Given the description of an element on the screen output the (x, y) to click on. 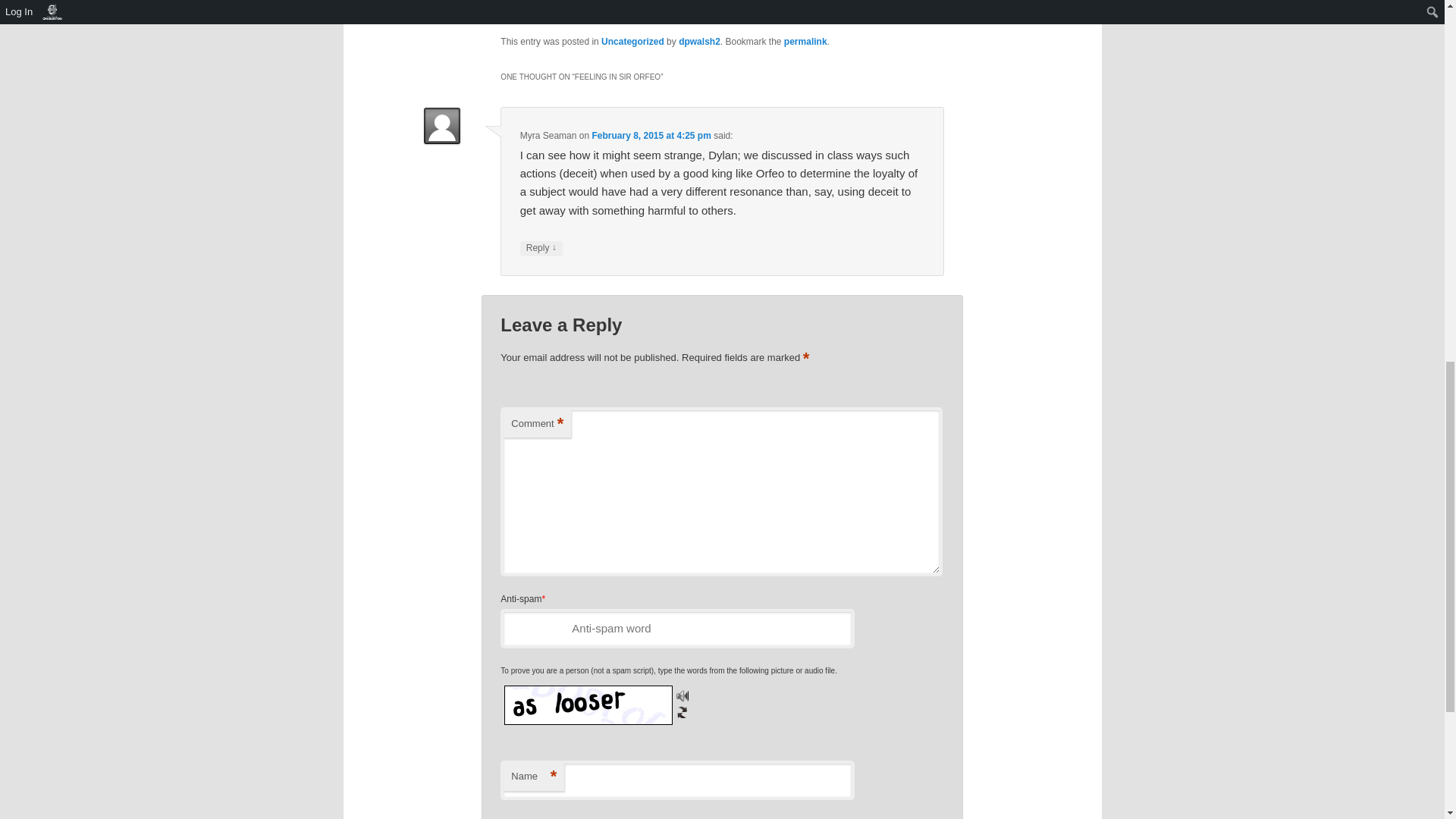
Uncategorized (632, 41)
Permalink to Feeling in Sir Orfeo (805, 41)
dpwalsh2 (699, 41)
